Given the description of an element on the screen output the (x, y) to click on. 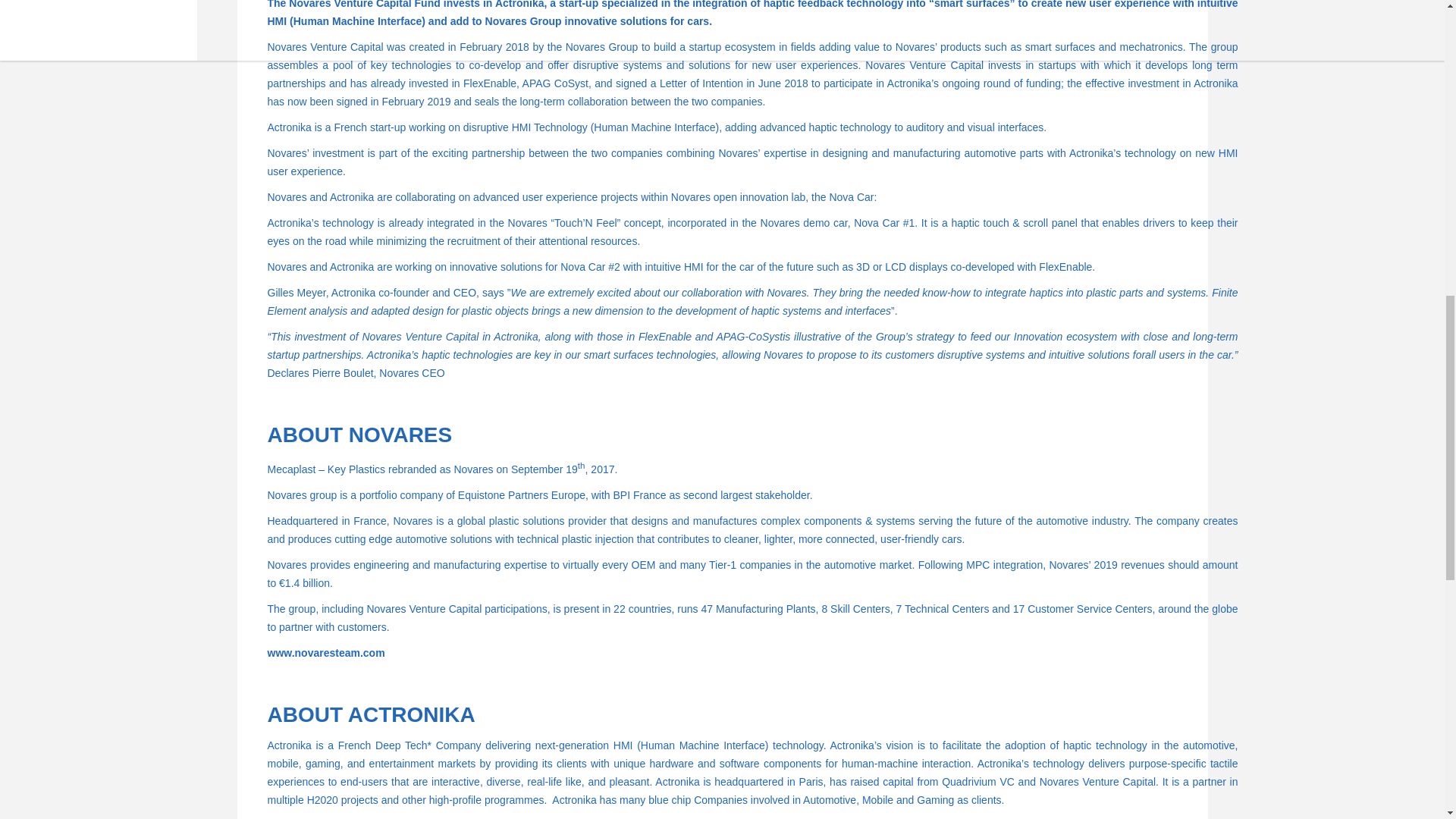
www.novaresteam.com (325, 653)
